Given the description of an element on the screen output the (x, y) to click on. 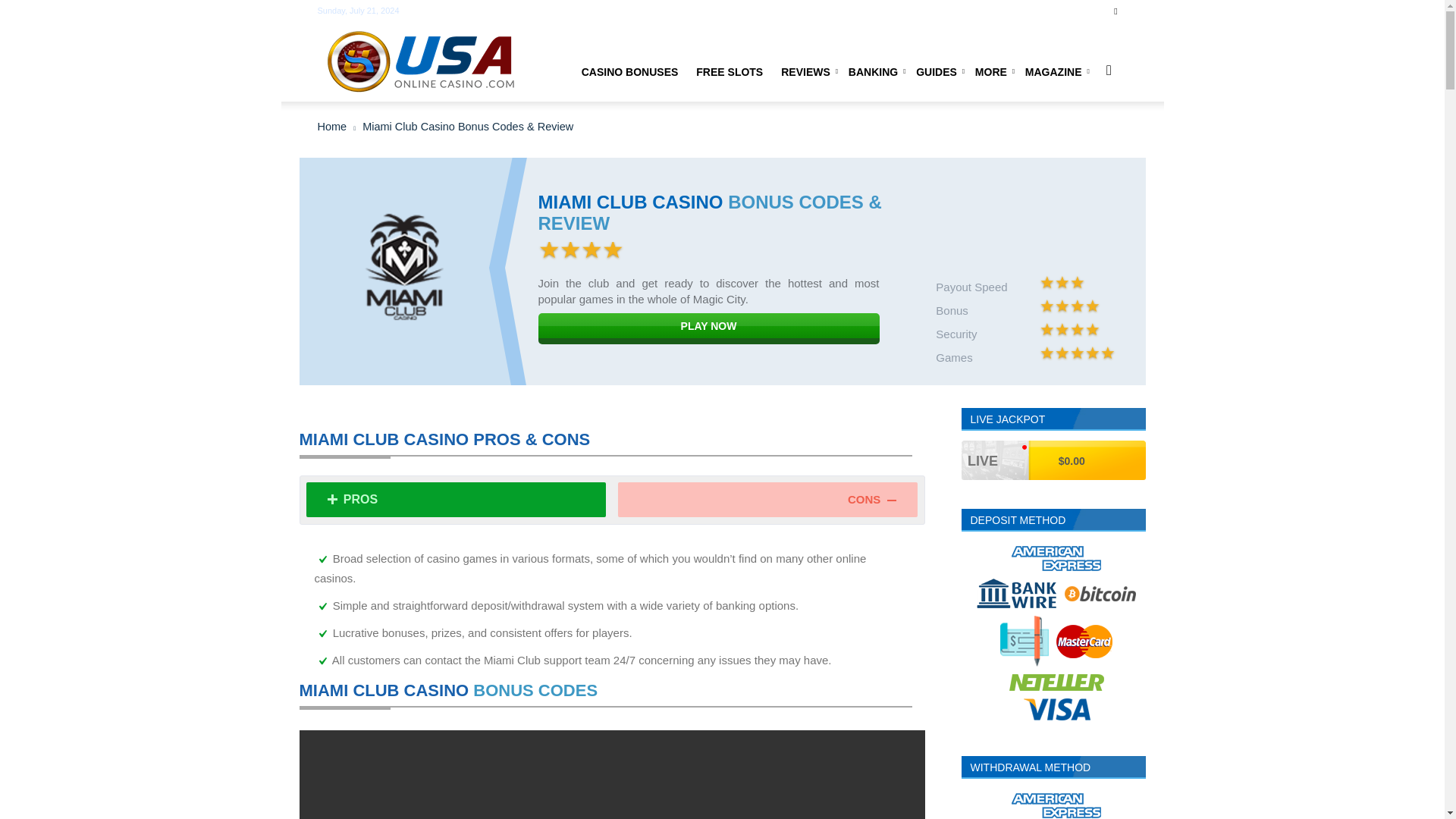
Twitter (1114, 10)
